Given the description of an element on the screen output the (x, y) to click on. 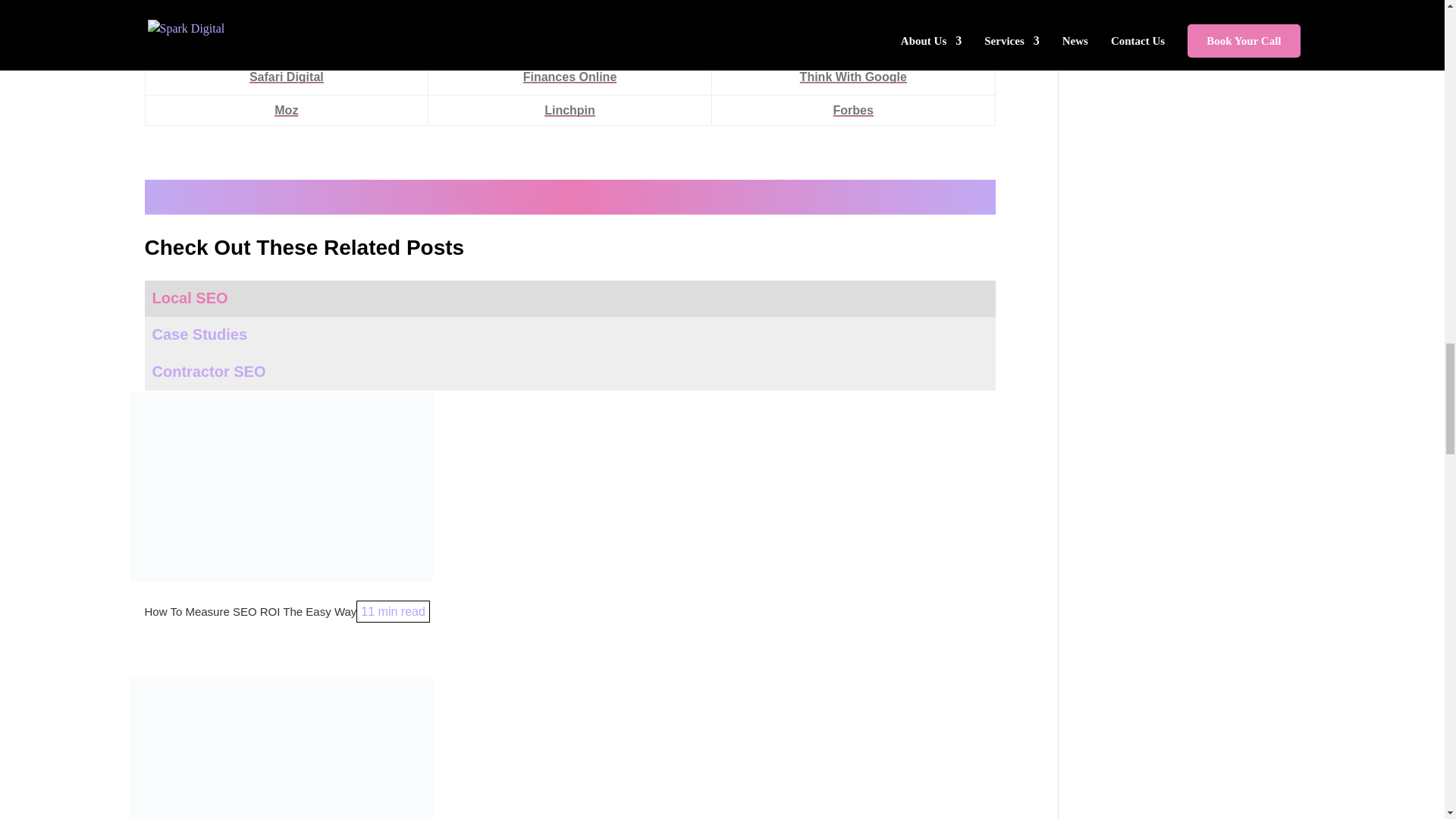
Moz (286, 110)
Forbes (852, 110)
Safari Digital (285, 76)
Linchpin (569, 110)
Think With Google (853, 76)
How To Measure SEO ROI The Easy Way11 min read (286, 611)
Finances Online (569, 76)
